Given the description of an element on the screen output the (x, y) to click on. 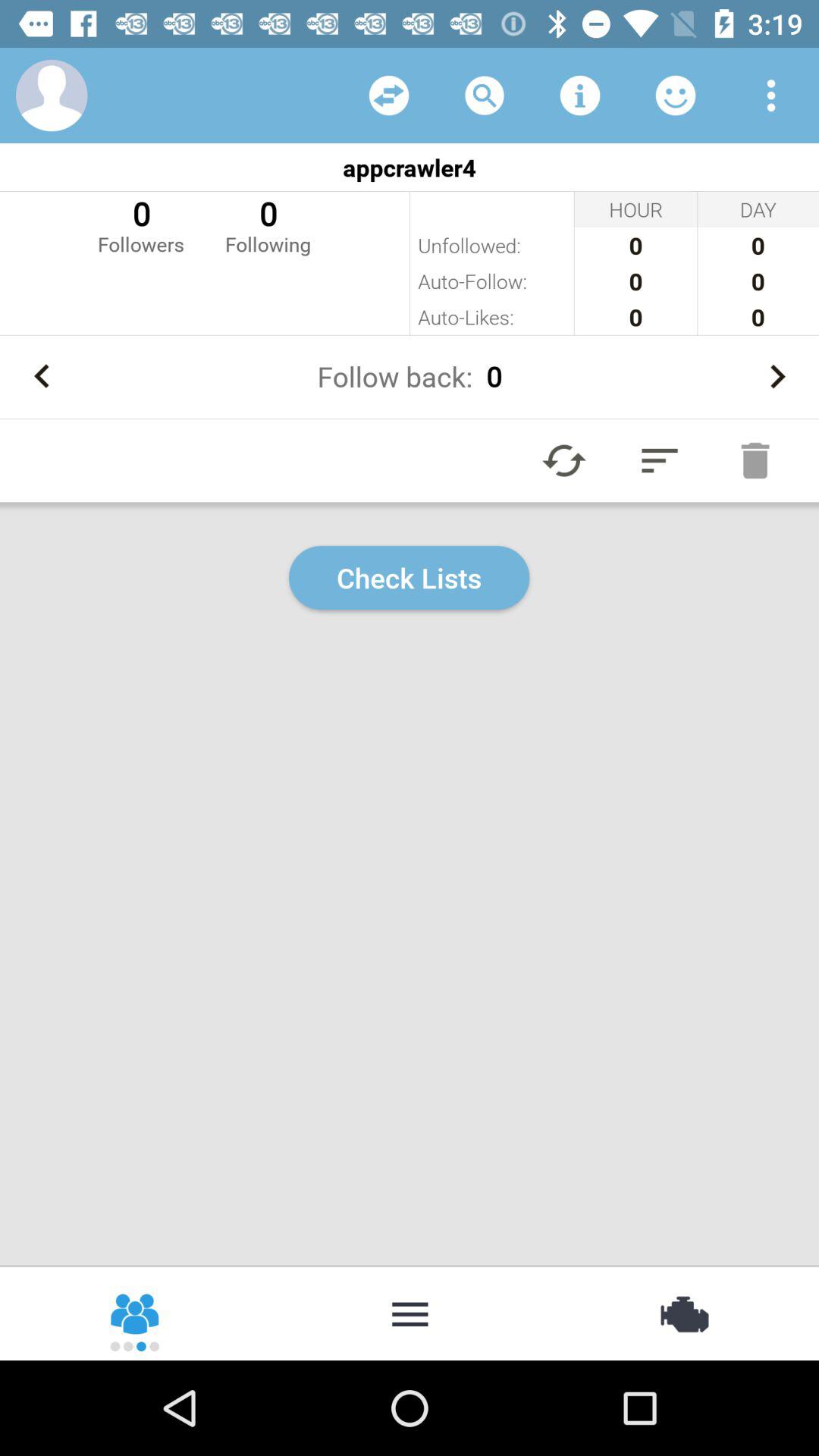
discard (755, 460)
